Given the description of an element on the screen output the (x, y) to click on. 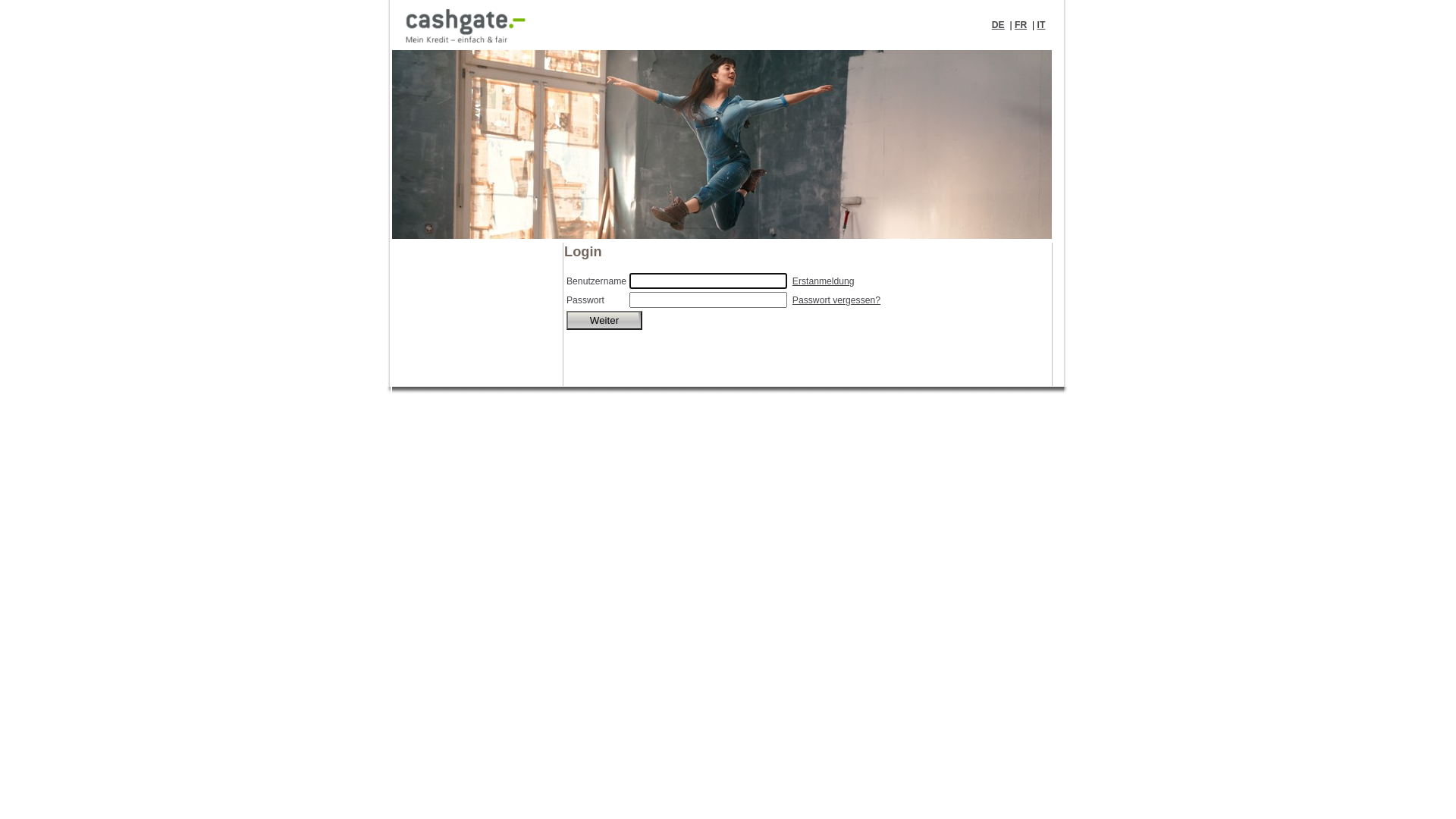
Weiter Element type: text (604, 319)
DE  | FR  | IT        Element type: text (727, 25)
DE Element type: text (997, 24)
IT Element type: text (1041, 24)
Passwort vergessen? Element type: text (836, 299)
Erstanmeldung Element type: text (823, 281)
FR Element type: text (1020, 24)
